Given the description of an element on the screen output the (x, y) to click on. 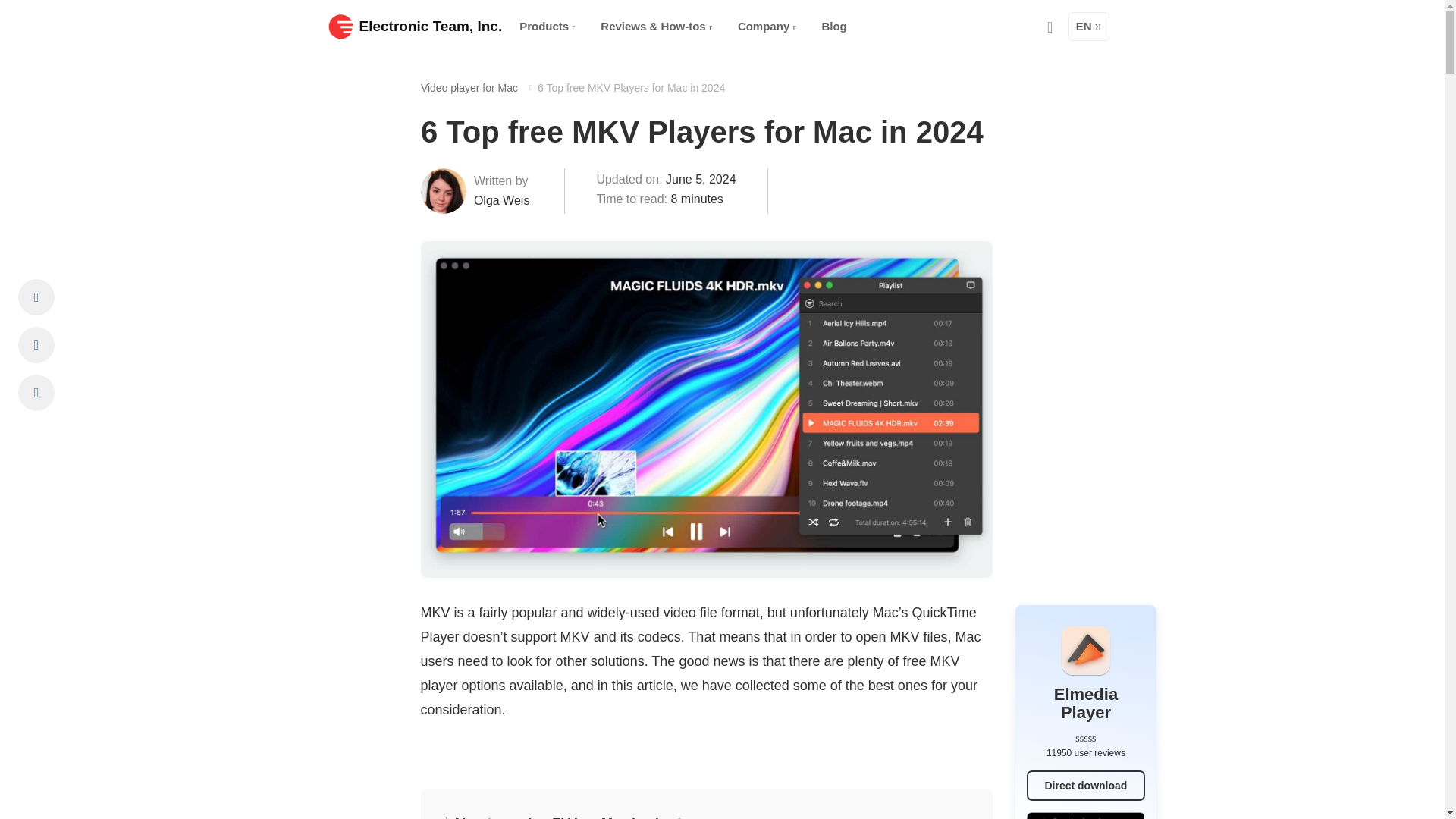
Electronic Team, Inc. (414, 25)
Company (767, 26)
Blog (834, 26)
Products (547, 26)
EN (1088, 26)
Blog (834, 26)
